Given the description of an element on the screen output the (x, y) to click on. 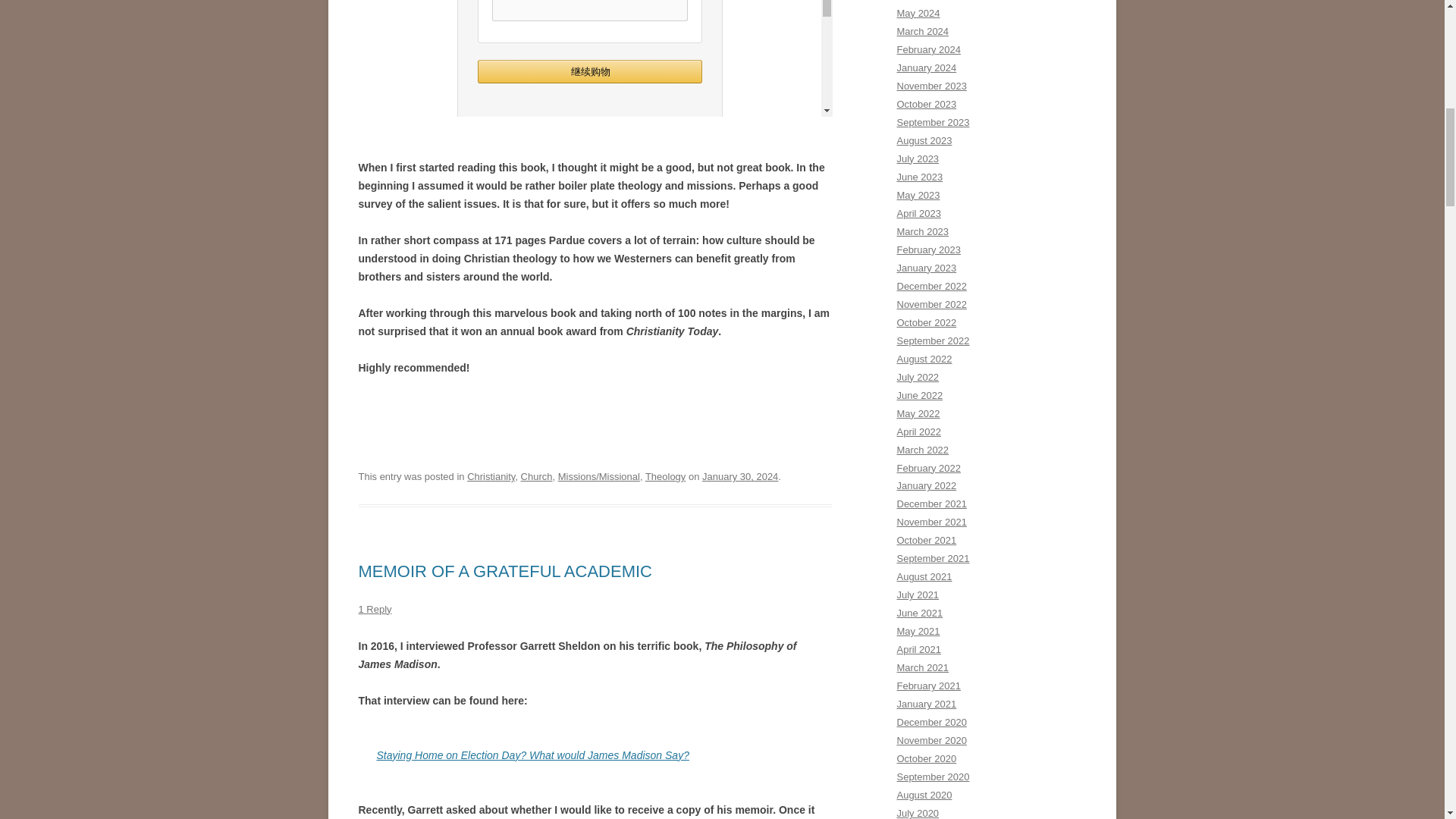
January 30, 2024 (739, 476)
MEMOIR OF A GRATEFUL ACADEMIC (505, 570)
11:24 pm (739, 476)
Church (537, 476)
Staying Home on Election Day? What would James Madison Say? (531, 755)
Theology (665, 476)
Christianity (491, 476)
1 Reply (374, 609)
